Given the description of an element on the screen output the (x, y) to click on. 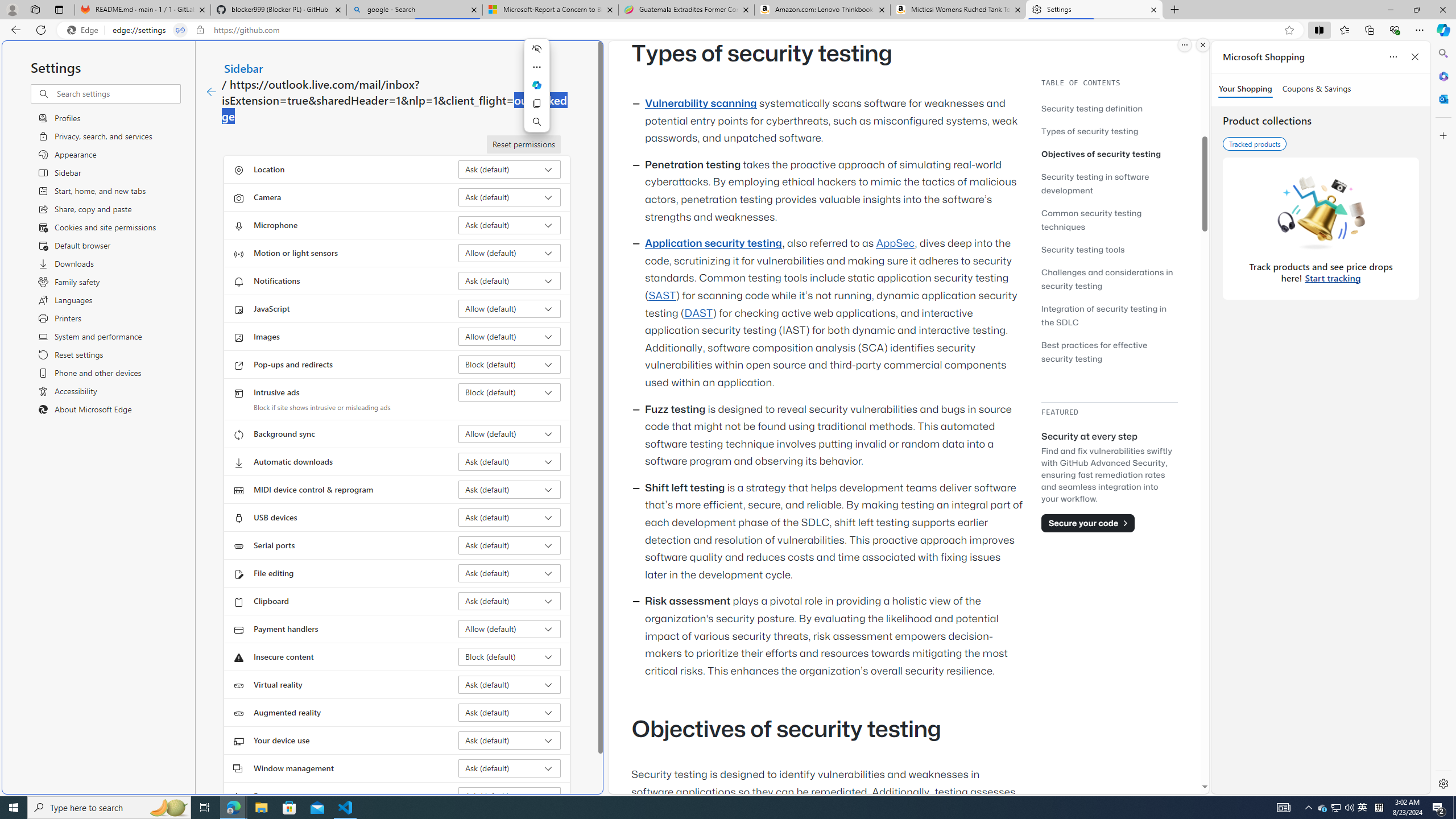
Application security testing (713, 243)
Background sync Allow (default) (509, 434)
Location Ask (default) (509, 169)
SAST (661, 295)
Intrusive ads Block (default) (509, 392)
Vulnerability scanning (701, 103)
Objectives of security testing (1109, 153)
Mini menu on text selection (537, 91)
Best practices for effective security testing (1094, 351)
Augmented reality Ask (default) (509, 712)
